Given the description of an element on the screen output the (x, y) to click on. 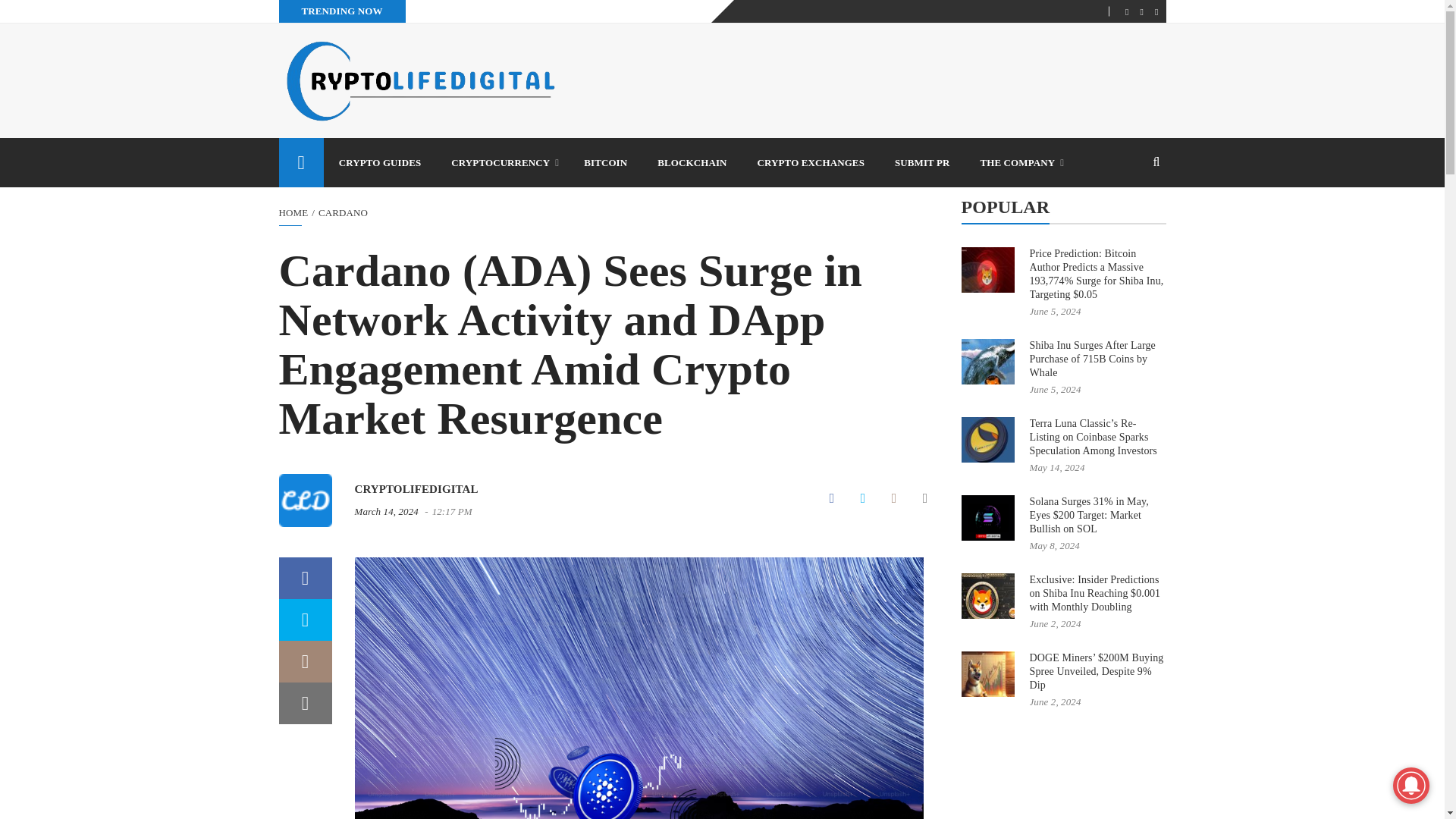
Facebook (831, 498)
Home (293, 212)
Comment (893, 498)
Cardano (343, 212)
Twitter (862, 498)
Home (301, 162)
